Given the description of an element on the screen output the (x, y) to click on. 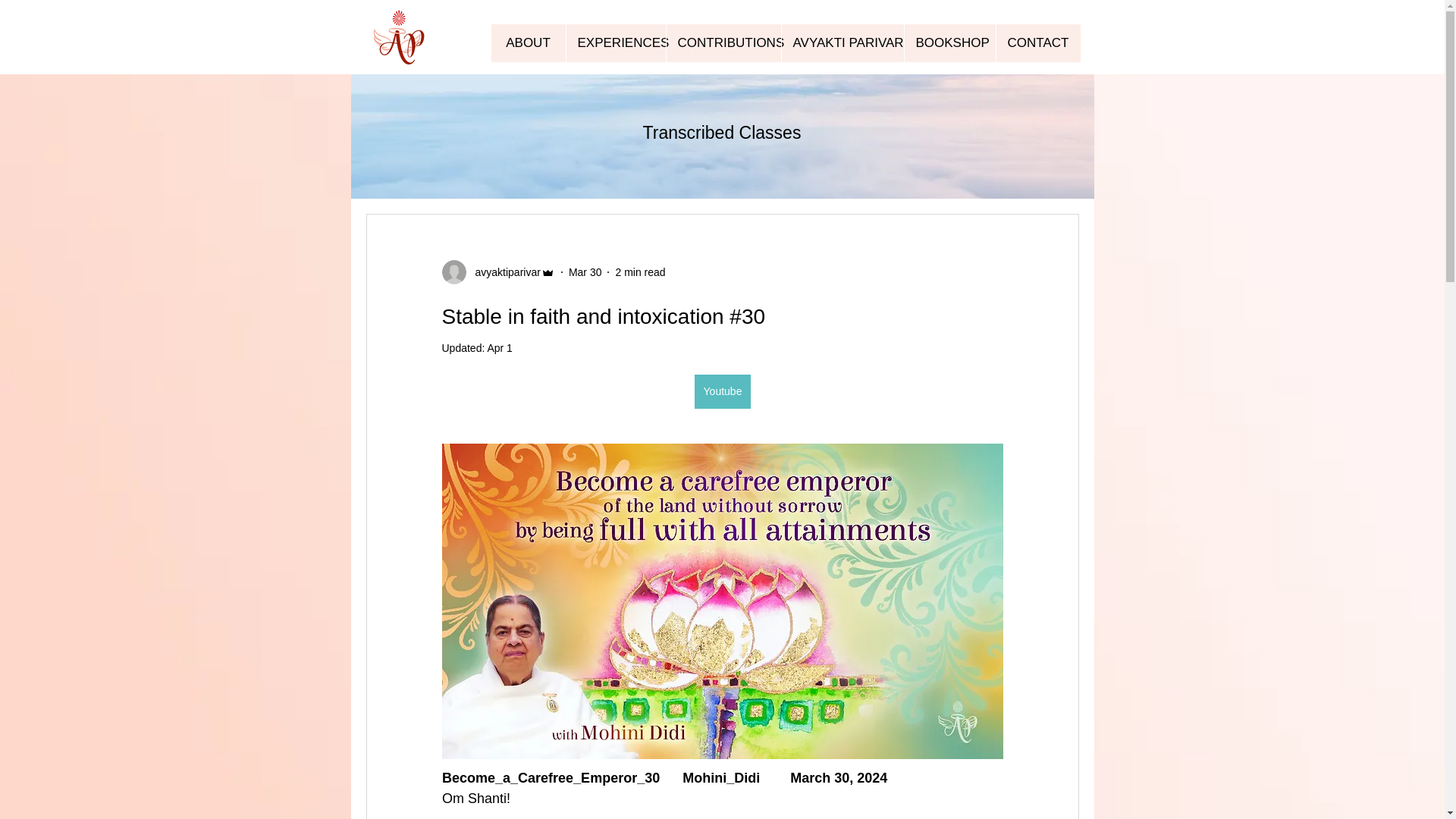
CONTACT (1037, 43)
ABOUT (529, 43)
Mar 30 (585, 271)
Youtube (722, 391)
avyaktiparivar (497, 272)
2 min read (639, 271)
avyaktiparivar (502, 271)
Apr 1 (499, 347)
EXPERIENCES (615, 43)
CONTRIBUTIONS (722, 43)
